Given the description of an element on the screen output the (x, y) to click on. 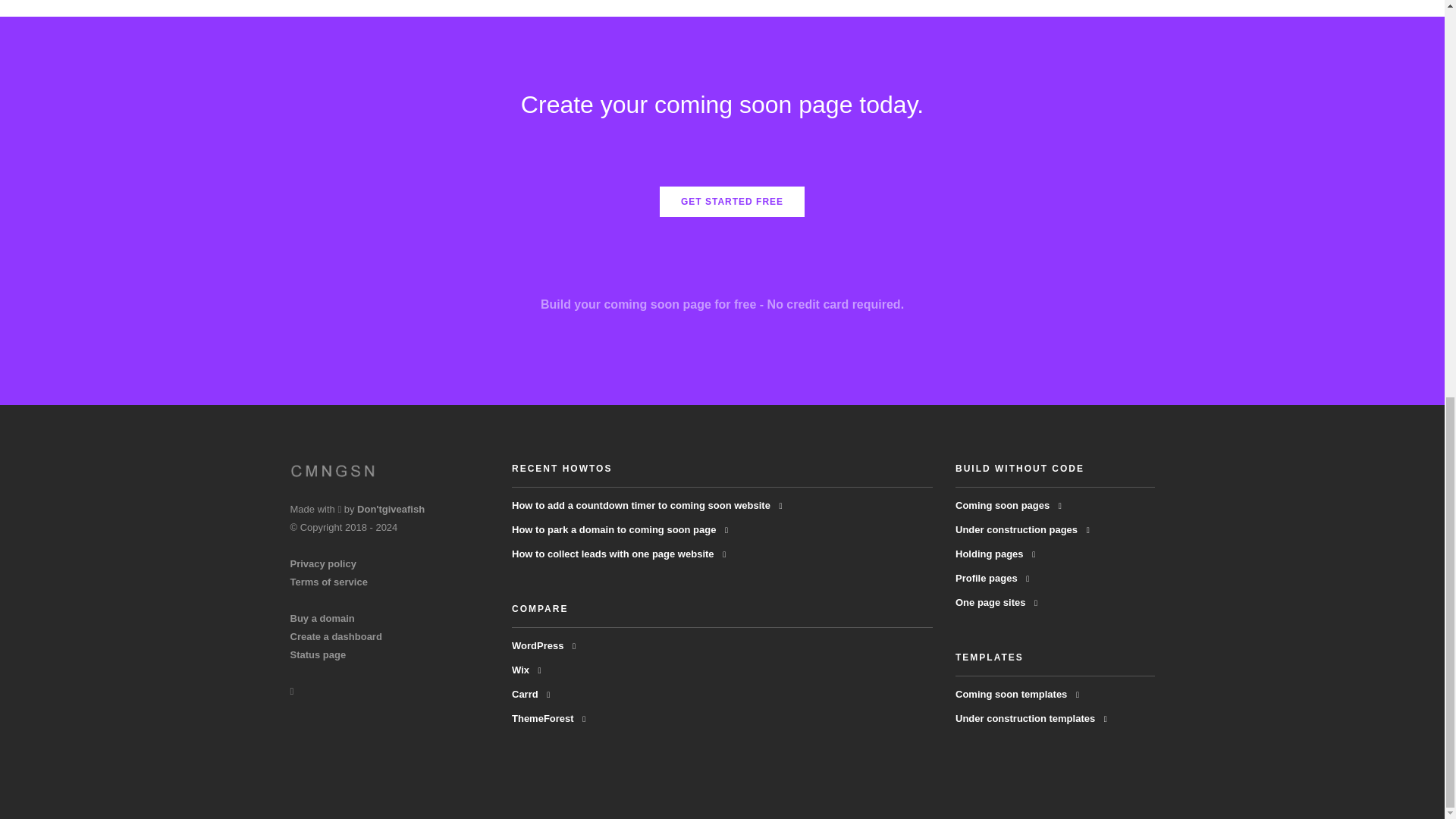
Status page (317, 654)
Create a dashboard (335, 636)
Buy a domain (321, 618)
ThemeForest (548, 717)
Privacy policy (322, 563)
Terms of service (327, 582)
How to add a countdown timer to coming soon website (647, 505)
Don'tgiveafish (390, 509)
Carrd (531, 694)
COMPARE (539, 608)
Wix (526, 669)
How to park a domain to coming soon page (620, 529)
Under construction pages (1022, 529)
How to collect leads with one page website (618, 553)
Coming soon pages (1008, 505)
